Given the description of an element on the screen output the (x, y) to click on. 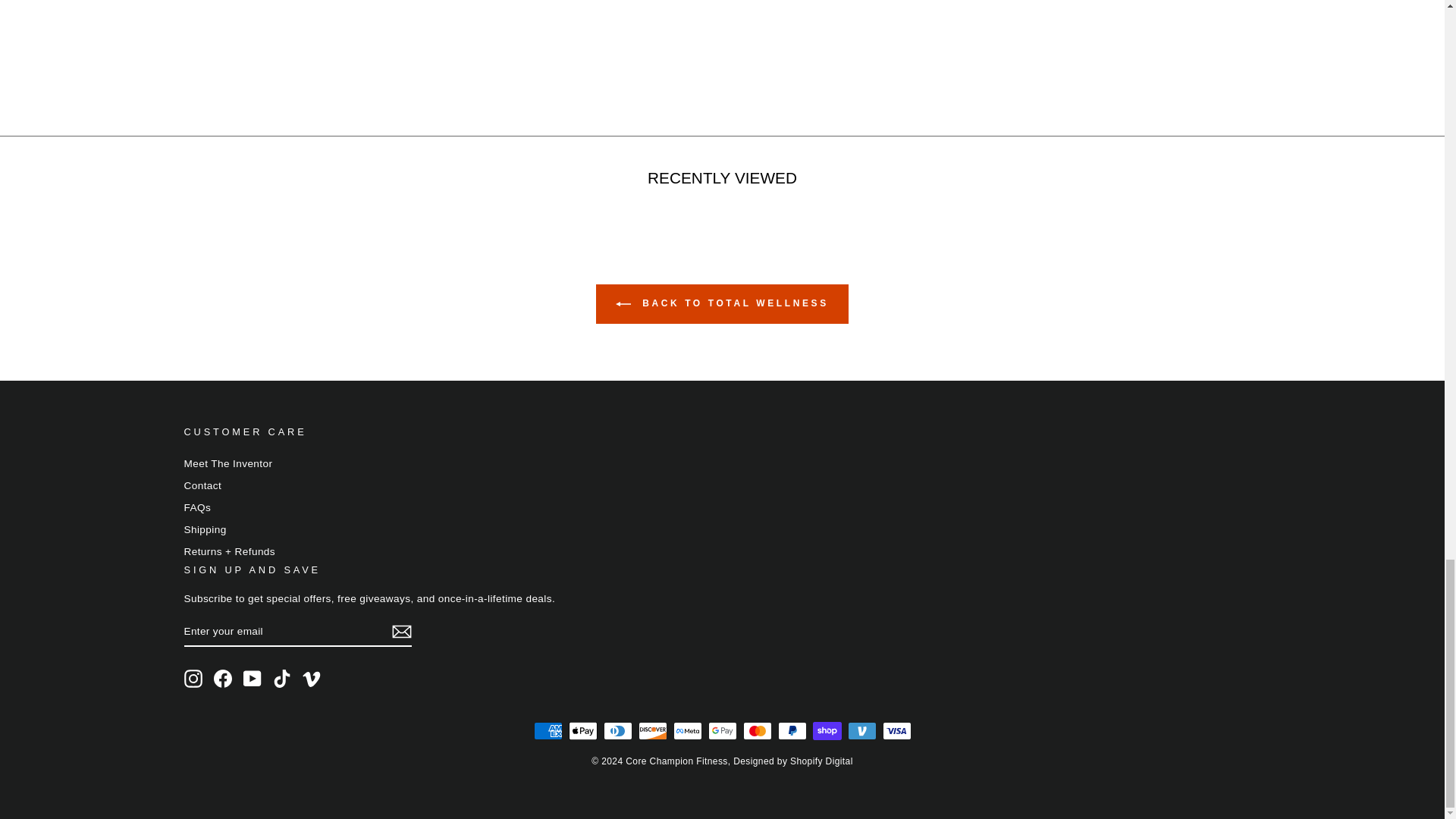
Core Champion Fitness on Instagram (192, 678)
Core Champion Fitness on TikTok (282, 678)
Apple Pay (582, 730)
Core Champion Fitness on YouTube (251, 678)
Core Champion Fitness on Facebook (222, 678)
Core Champion Fitness on Vimeo (310, 678)
American Express (548, 730)
